Given the description of an element on the screen output the (x, y) to click on. 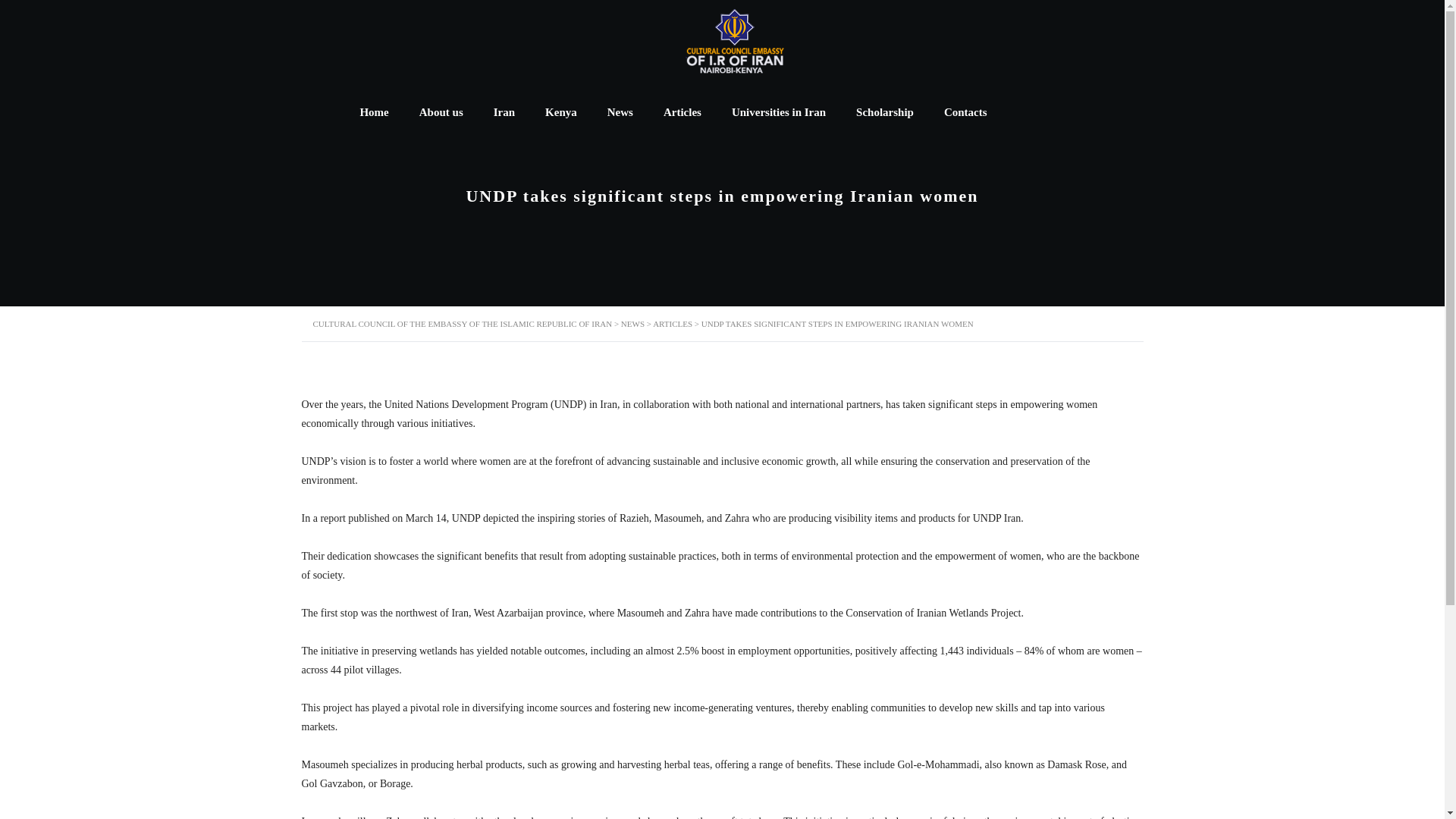
Universities in Iran (778, 113)
Contacts (965, 113)
Go to the Articles Category archives. (672, 323)
NEWS (633, 323)
Kenya (560, 113)
Iran (504, 113)
Articles (681, 113)
Scholarship (884, 113)
ARTICLES (672, 323)
News (619, 113)
Home (373, 113)
Go to News. (633, 323)
About us (441, 113)
